Given the description of an element on the screen output the (x, y) to click on. 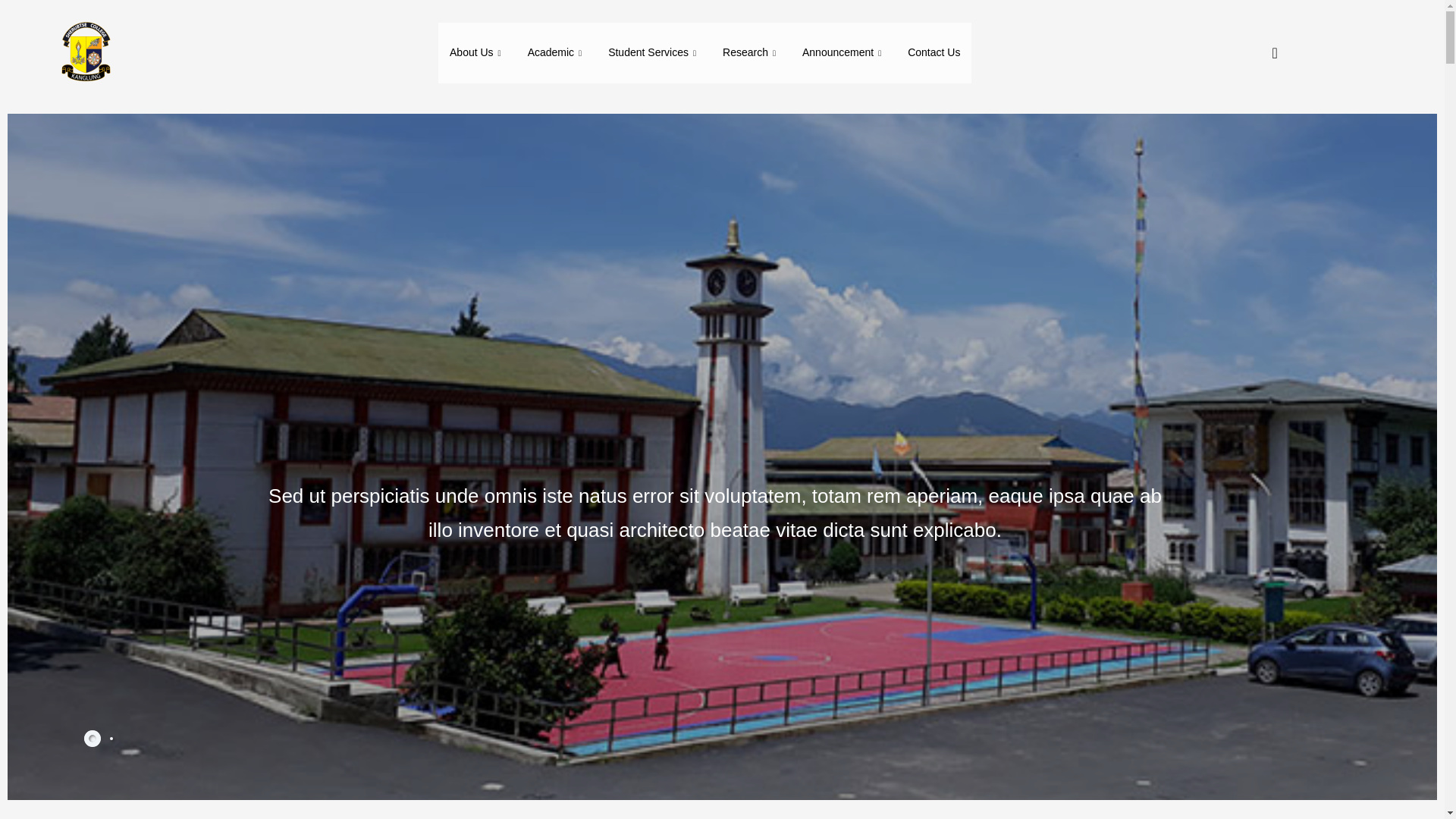
Announcement (843, 52)
About Us (477, 52)
Contact Us (933, 52)
Academic (556, 52)
Research (750, 52)
logo-removebg-preview-1 (84, 52)
Student Services (653, 52)
